Given the description of an element on the screen output the (x, y) to click on. 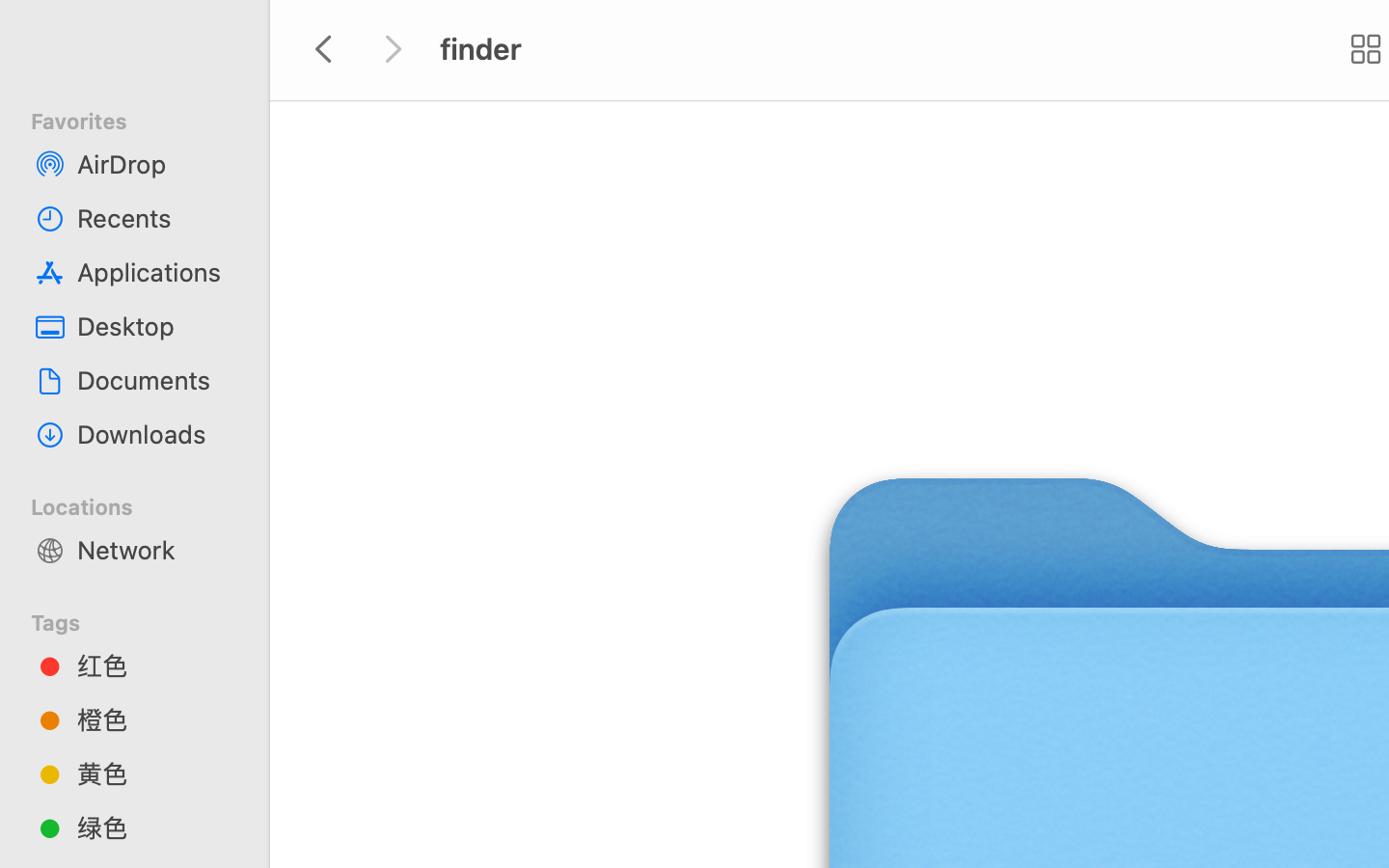
Downloads Element type: AXStaticText (155, 433)
Tags Element type: AXStaticText (145, 619)
红色 Element type: AXStaticText (155, 665)
Documents Element type: AXStaticText (155, 379)
AirDrop Element type: AXStaticText (155, 163)
